Given the description of an element on the screen output the (x, y) to click on. 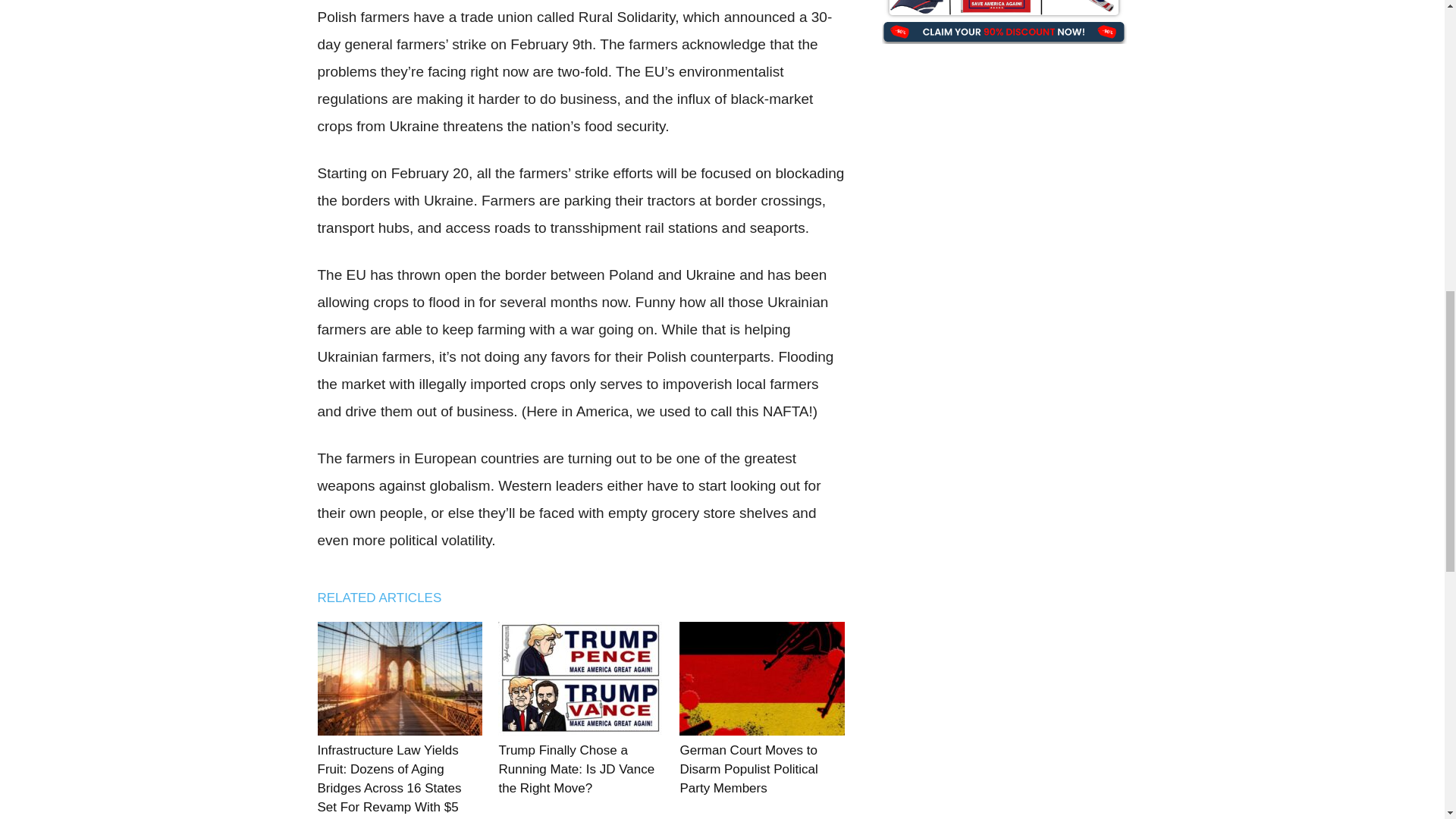
RELATED ARTICLES (387, 597)
